Given the description of an element on the screen output the (x, y) to click on. 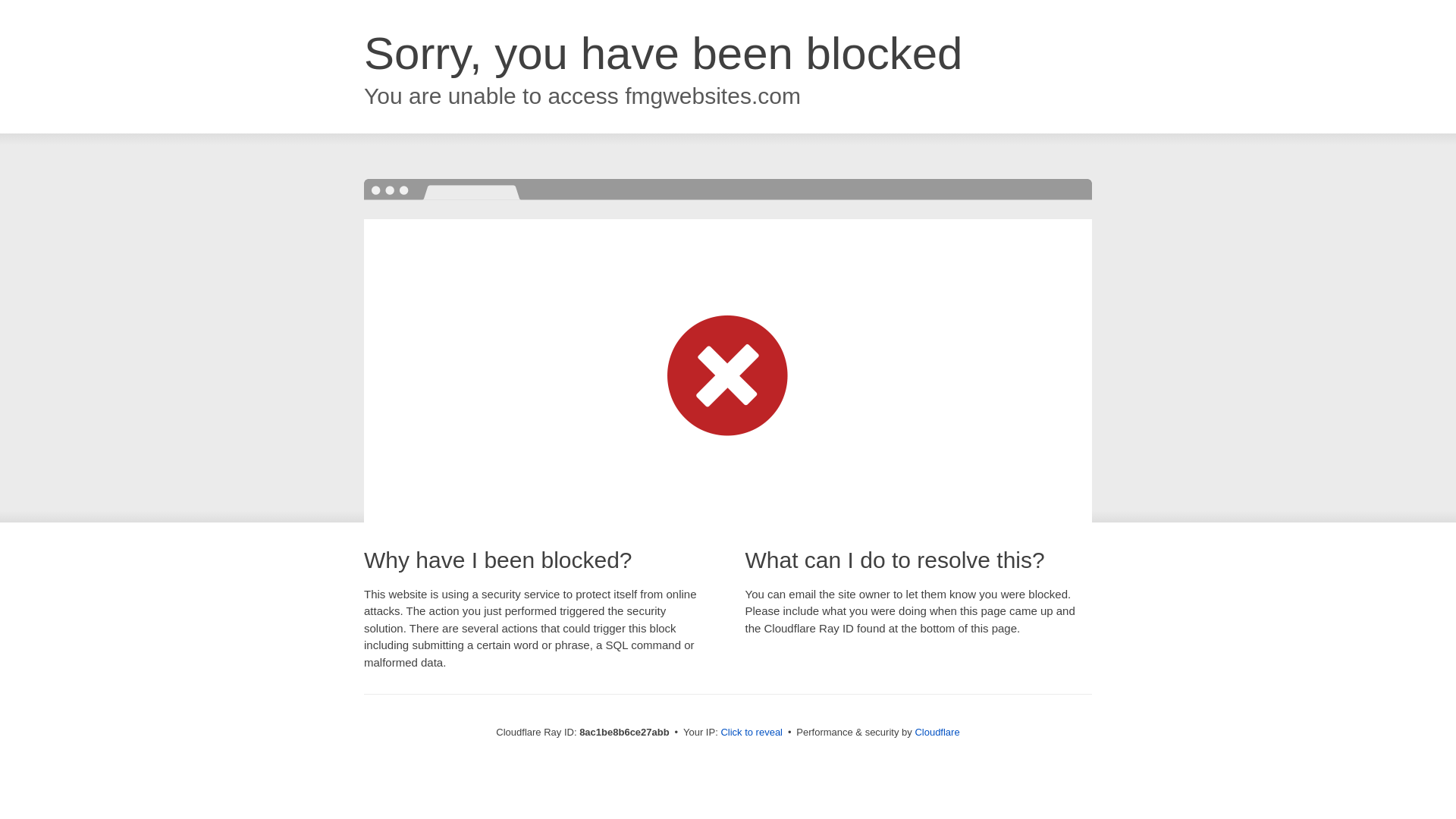
Click to reveal (751, 732)
Cloudflare (936, 731)
